Given the description of an element on the screen output the (x, y) to click on. 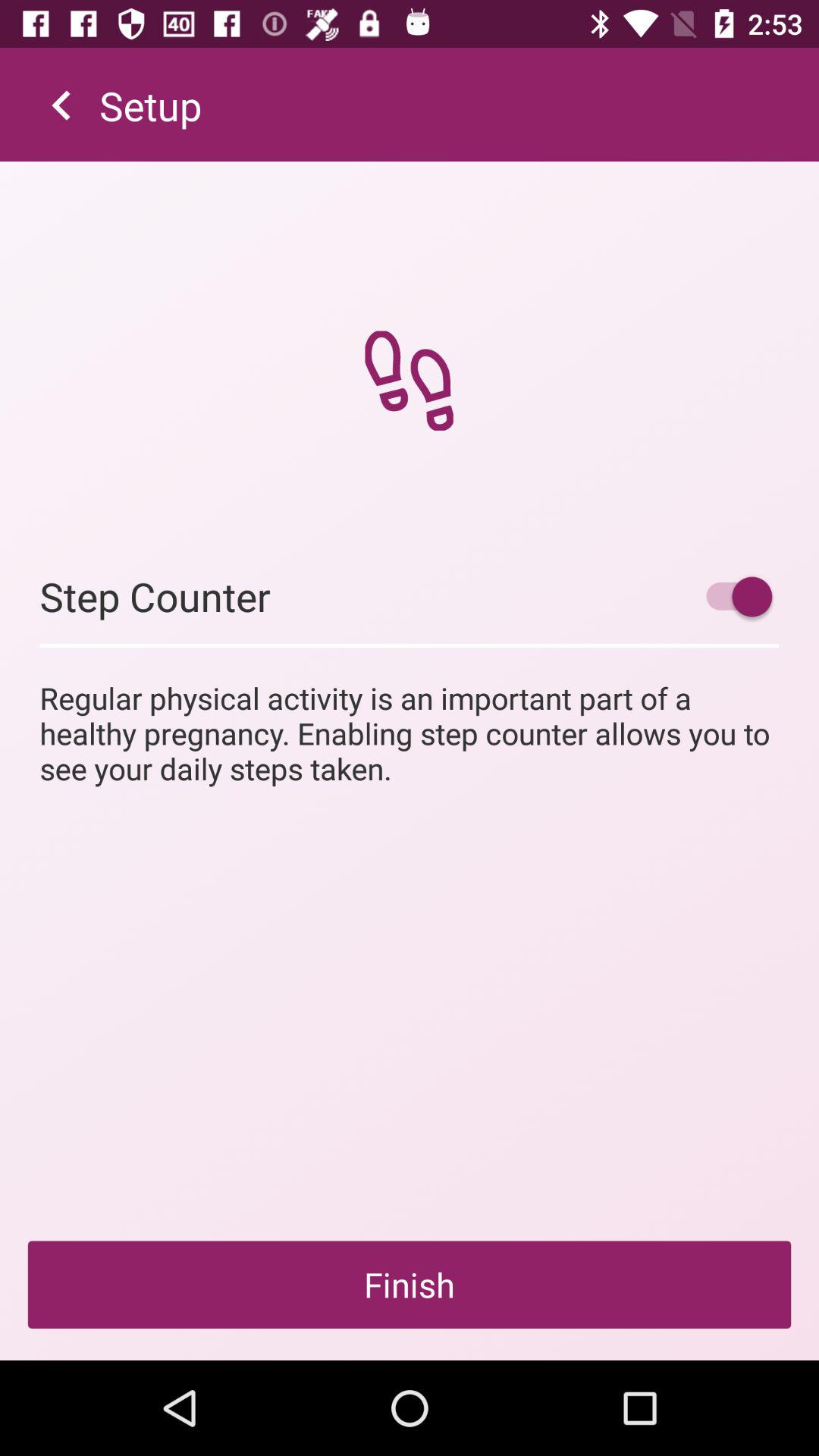
flip until the finish (409, 1284)
